Given the description of an element on the screen output the (x, y) to click on. 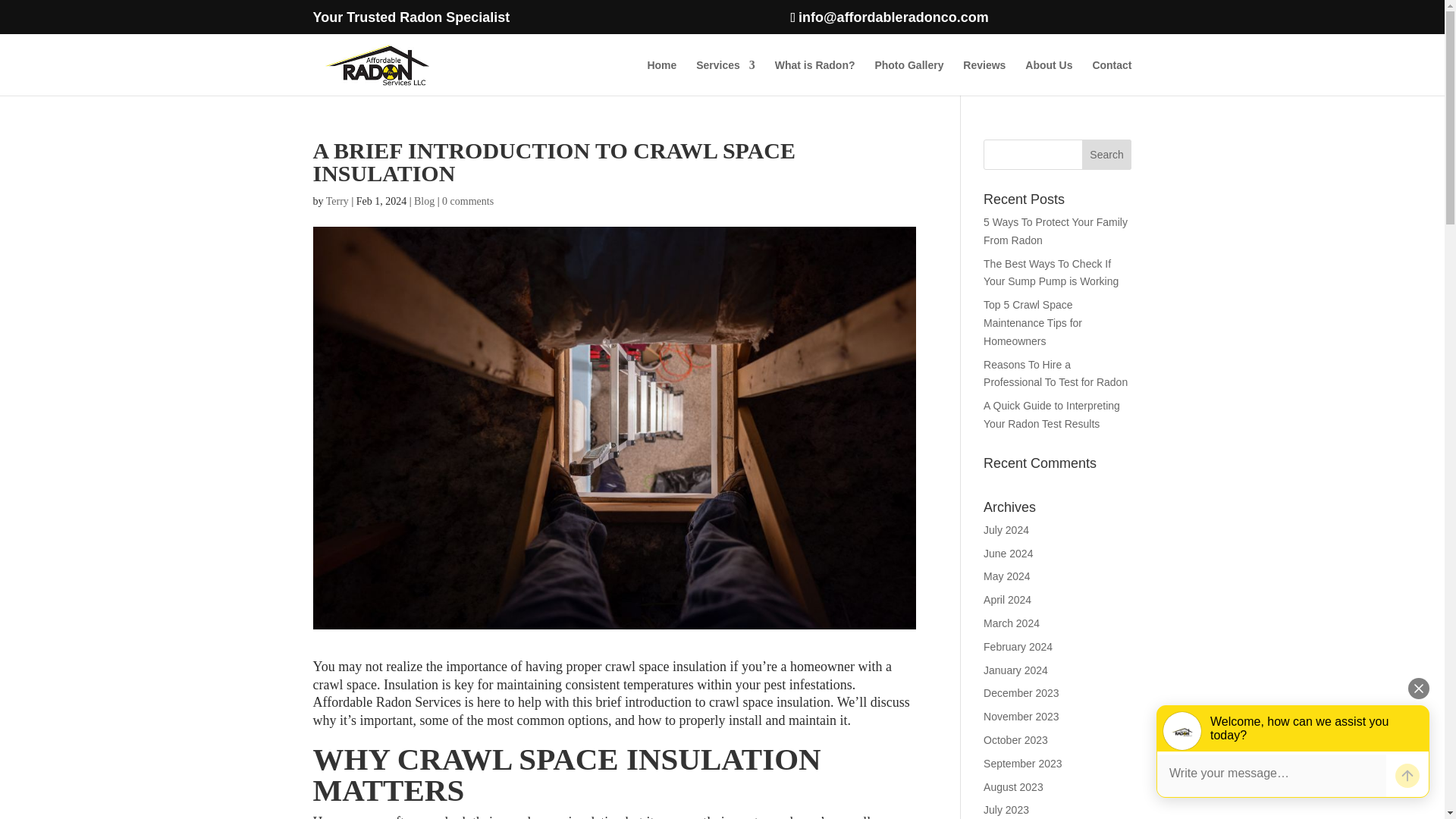
What is Radon? (815, 77)
Posts by Terry (337, 201)
Photo Gallery (909, 77)
A Quick Guide to Interpreting Your Radon Test Results (1051, 414)
Reasons To Hire a Professional To Test for Radon (1055, 373)
Reviews (984, 77)
Top 5 Crawl Space Maintenance Tips for Homeowners (1032, 322)
5 Ways To Protect Your Family From Radon (1055, 231)
July 2024 (1006, 530)
0 comments (467, 201)
The Best Ways To Check If Your Sump Pump is Working (1051, 272)
Search (1106, 154)
About Us (1048, 77)
Terry (337, 201)
Search (1106, 154)
